Given the description of an element on the screen output the (x, y) to click on. 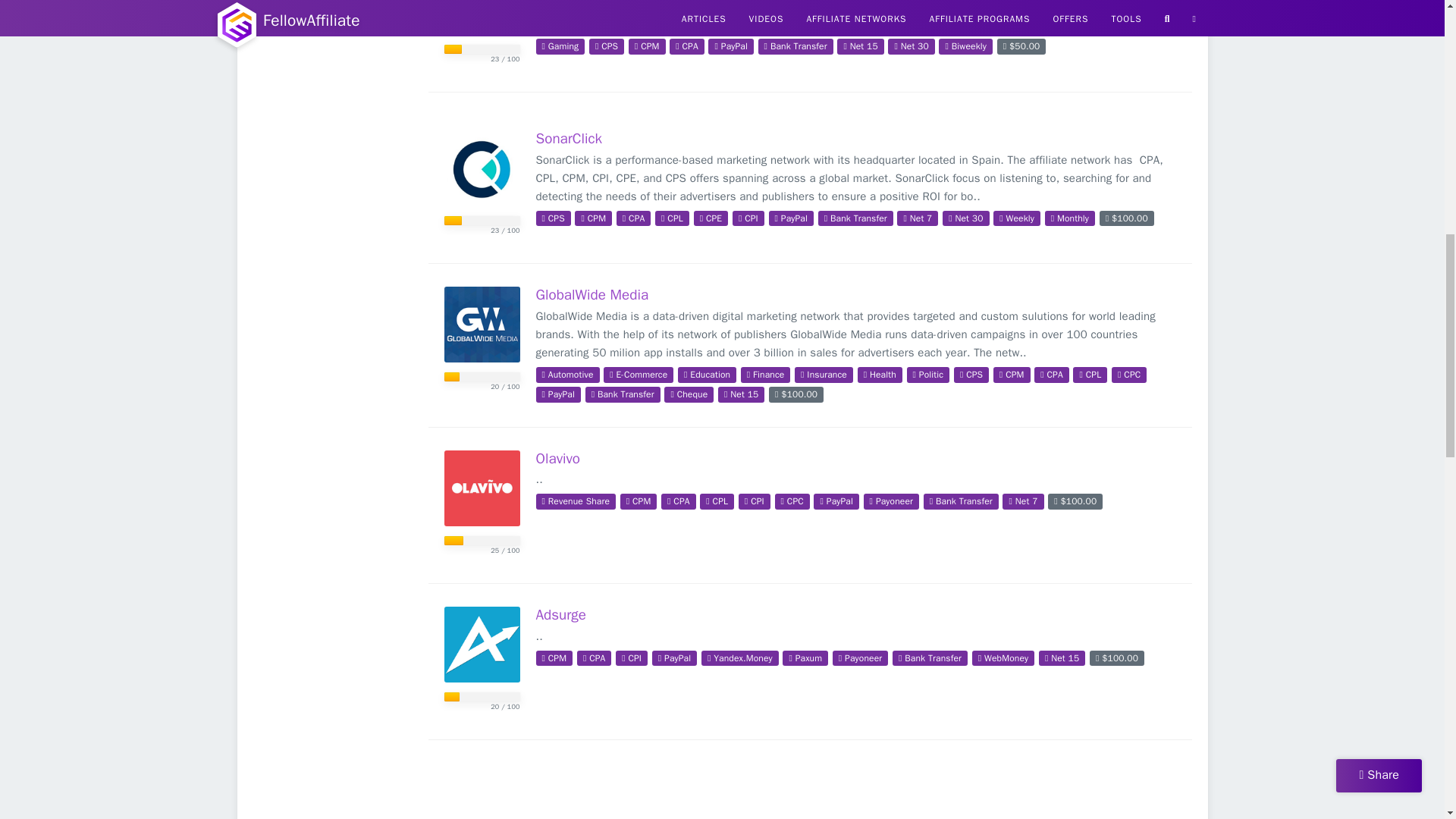
Olavivo (481, 488)
Adsurge (481, 644)
GlobalWide Media (481, 324)
iQU (481, 17)
SonarClick (481, 168)
